Given the description of an element on the screen output the (x, y) to click on. 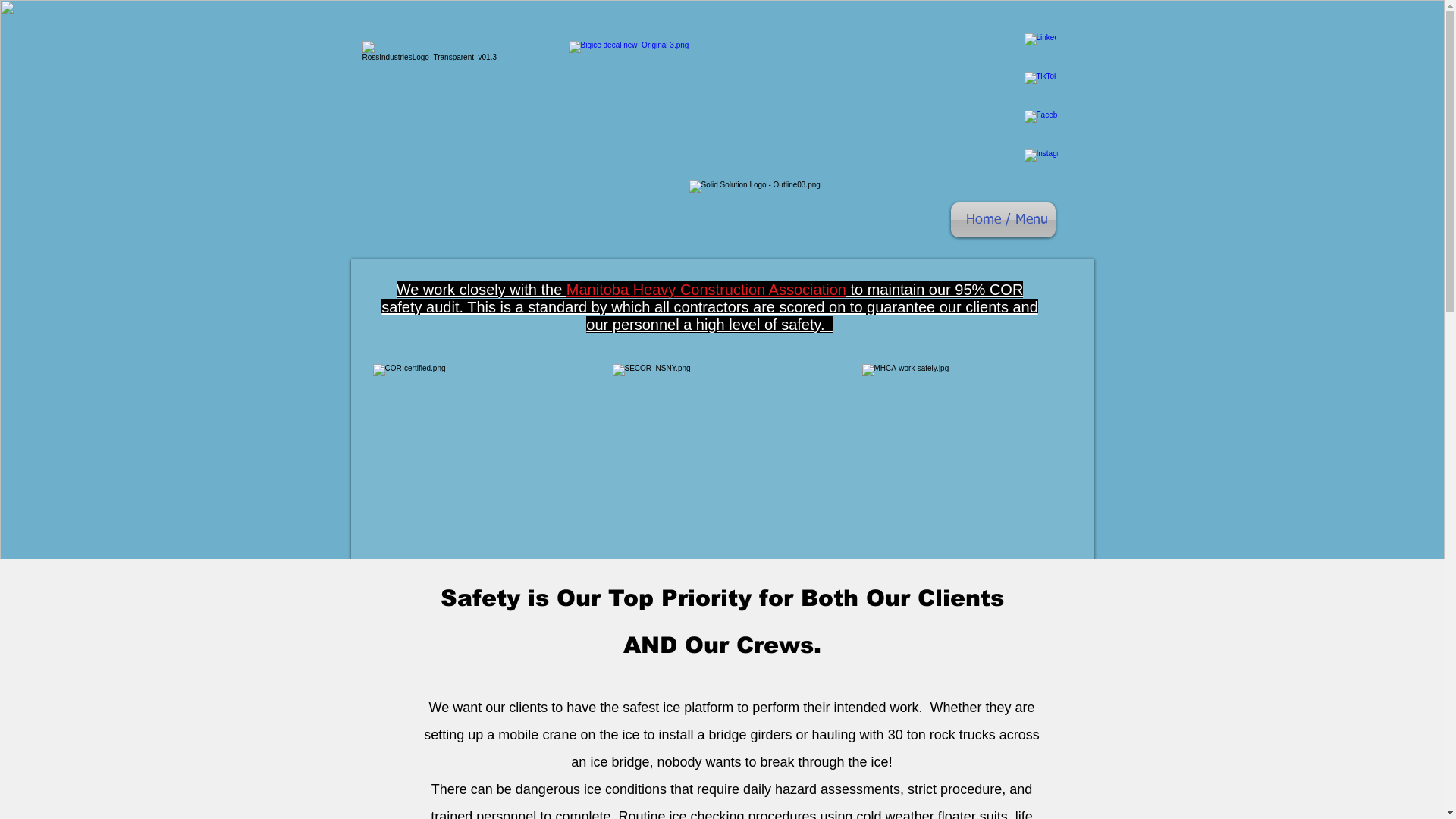
Solid Solution Logo - refined_Transparen Element type: hover (767, 208)
Home / Menu Element type: text (1002, 219)
